Given the description of an element on the screen output the (x, y) to click on. 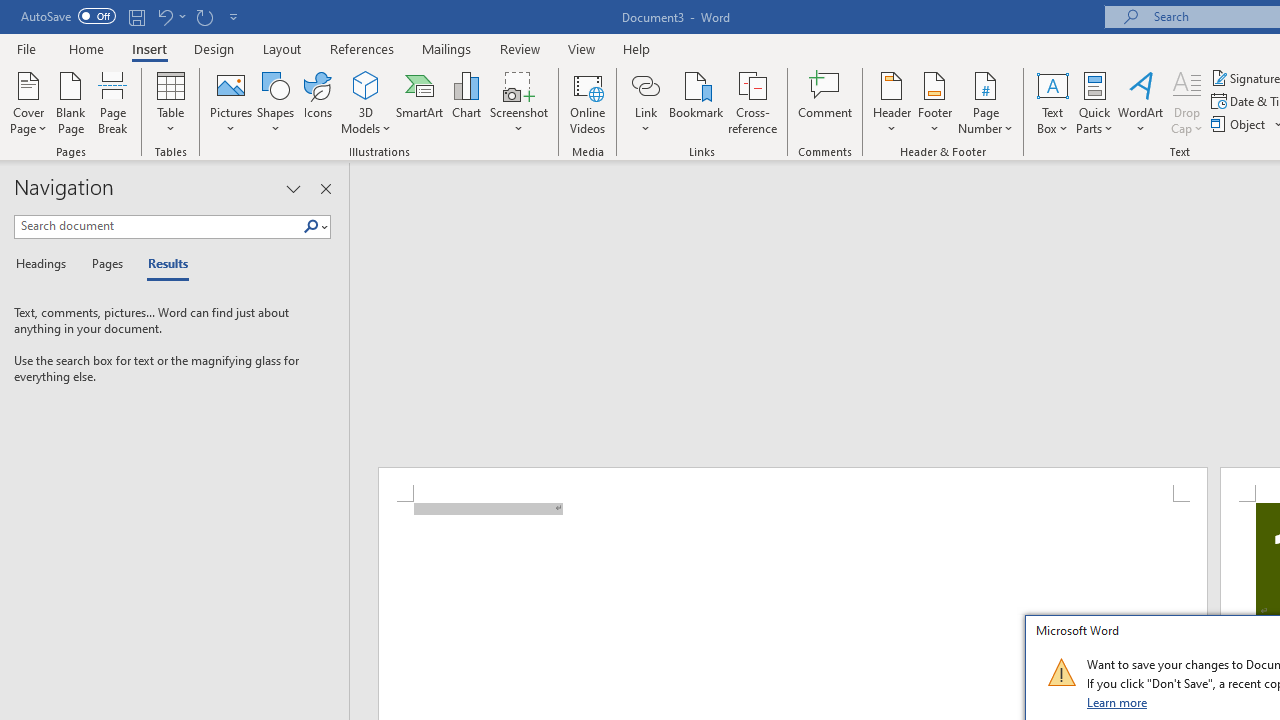
Blank Page (70, 102)
Pictures (230, 102)
Headings (45, 264)
Footer (934, 102)
Header -Section 1- (792, 485)
Results (161, 264)
Task Pane Options (293, 188)
Bookmark... (695, 102)
Link (645, 102)
Cover Page (28, 102)
